Given the description of an element on the screen output the (x, y) to click on. 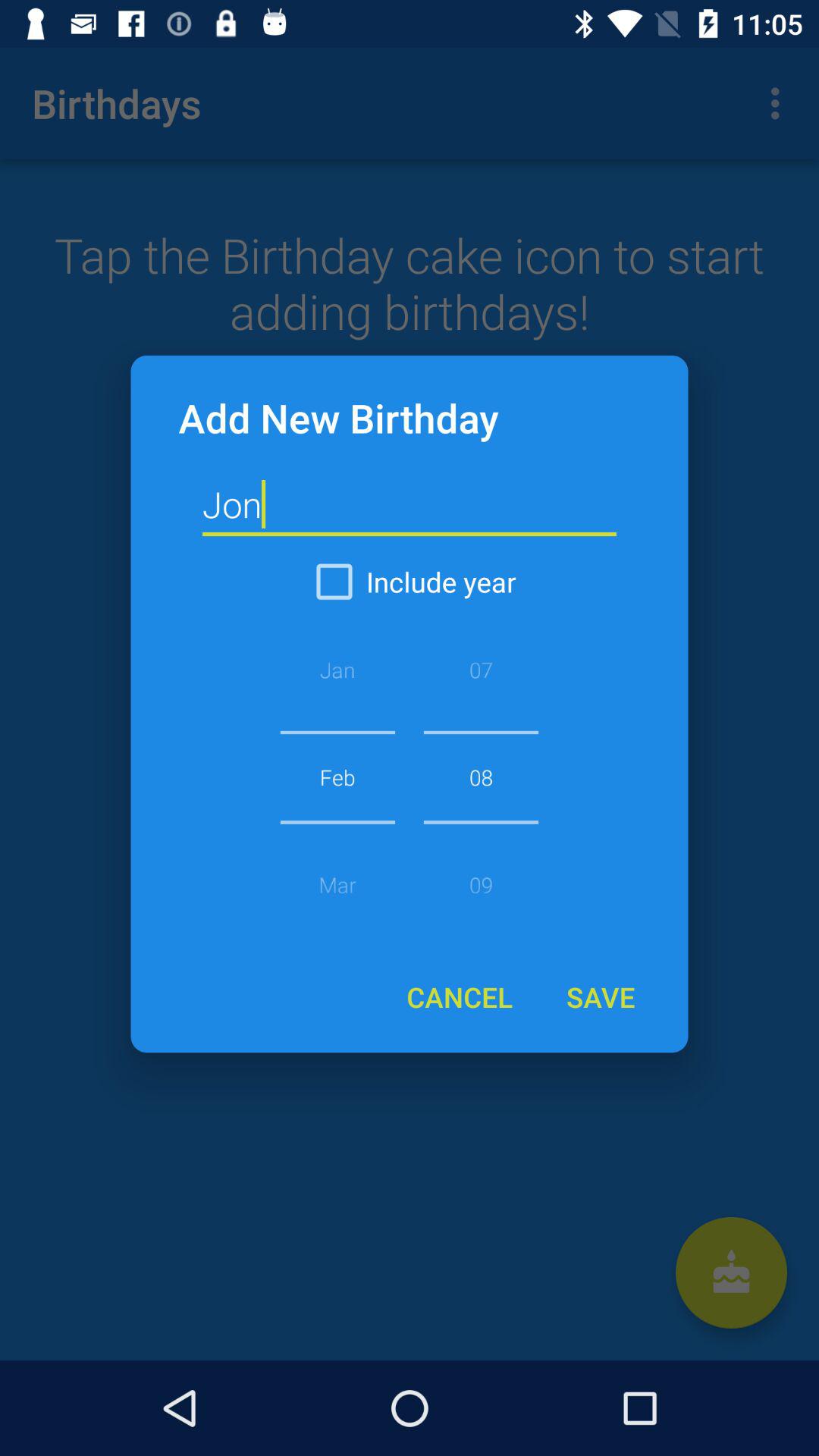
open the icon above the 08 item (409, 581)
